Given the description of an element on the screen output the (x, y) to click on. 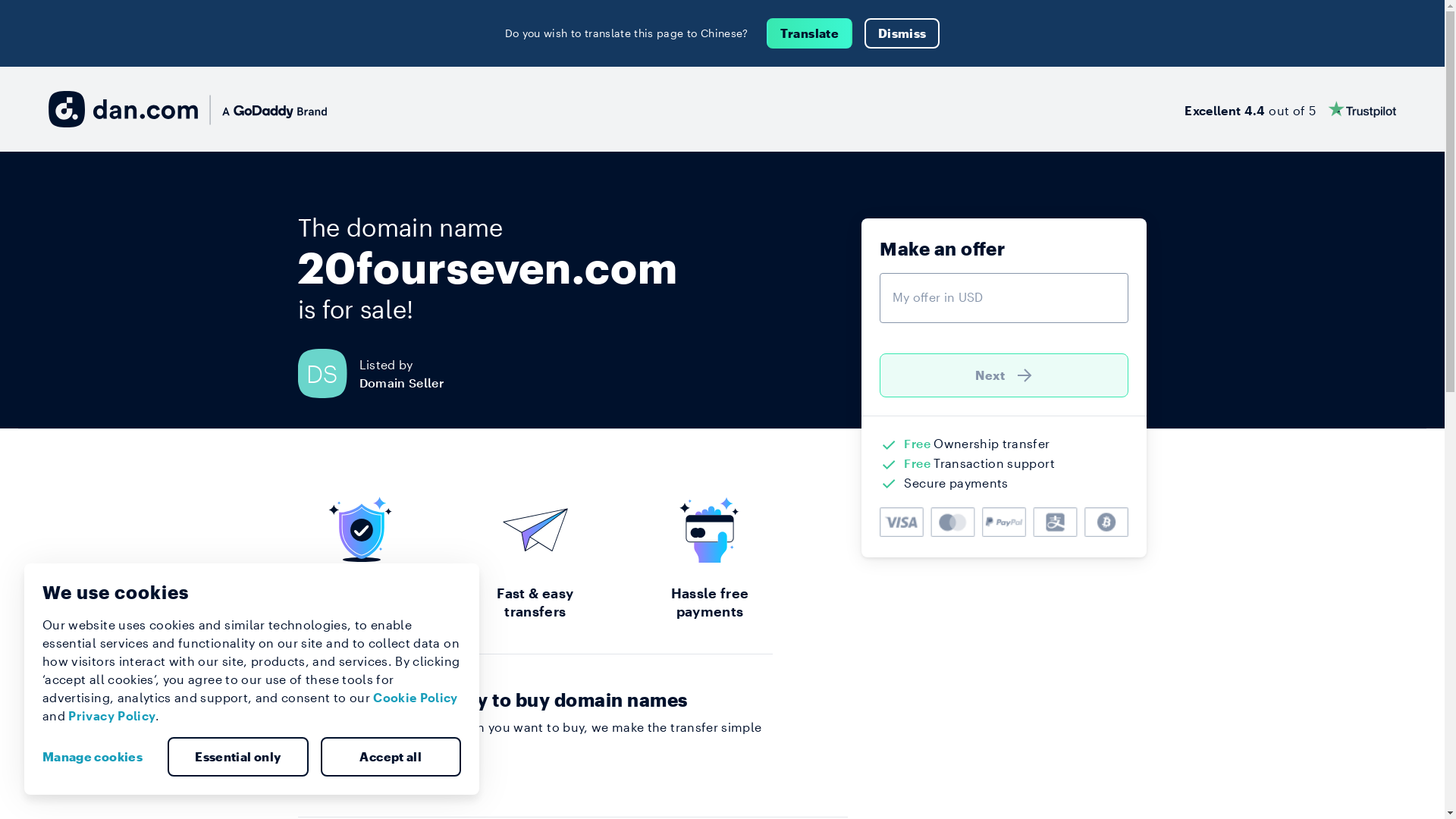
Dismiss Element type: text (901, 33)
Excellent 4.4 out of 5 Element type: text (1290, 109)
Accept all Element type: text (390, 756)
Next
) Element type: text (1003, 375)
Manage cookies Element type: text (98, 756)
Essential only Element type: text (237, 756)
Translate Element type: text (809, 33)
Privacy Policy Element type: text (111, 715)
Cookie Policy Element type: text (415, 697)
DS Element type: text (327, 373)
